Given the description of an element on the screen output the (x, y) to click on. 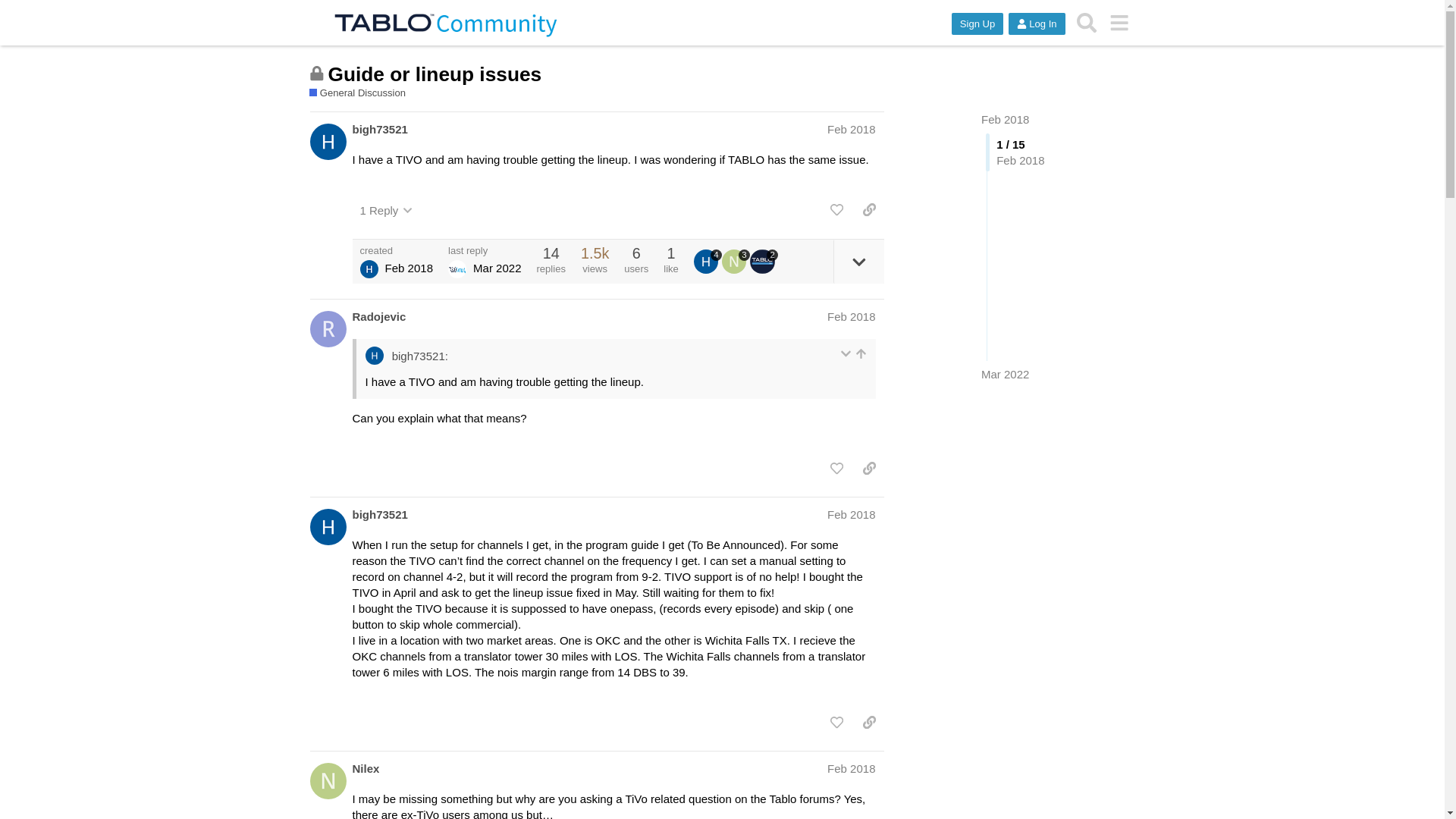
General Discussion (357, 92)
Sign Up (977, 24)
expand topic details (857, 261)
Feb 2018 (851, 316)
Guide or lineup issues (434, 74)
bigh73521 (379, 129)
Feb 2018 (851, 513)
last reply (484, 250)
Mar 2022 (1005, 374)
bigh73521 (379, 514)
2 (763, 261)
This topic is closed; it no longer accepts new replies (316, 73)
Post date (851, 128)
Log In (1036, 24)
Mar 17, 2022 9:55 pm (497, 267)
